Given the description of an element on the screen output the (x, y) to click on. 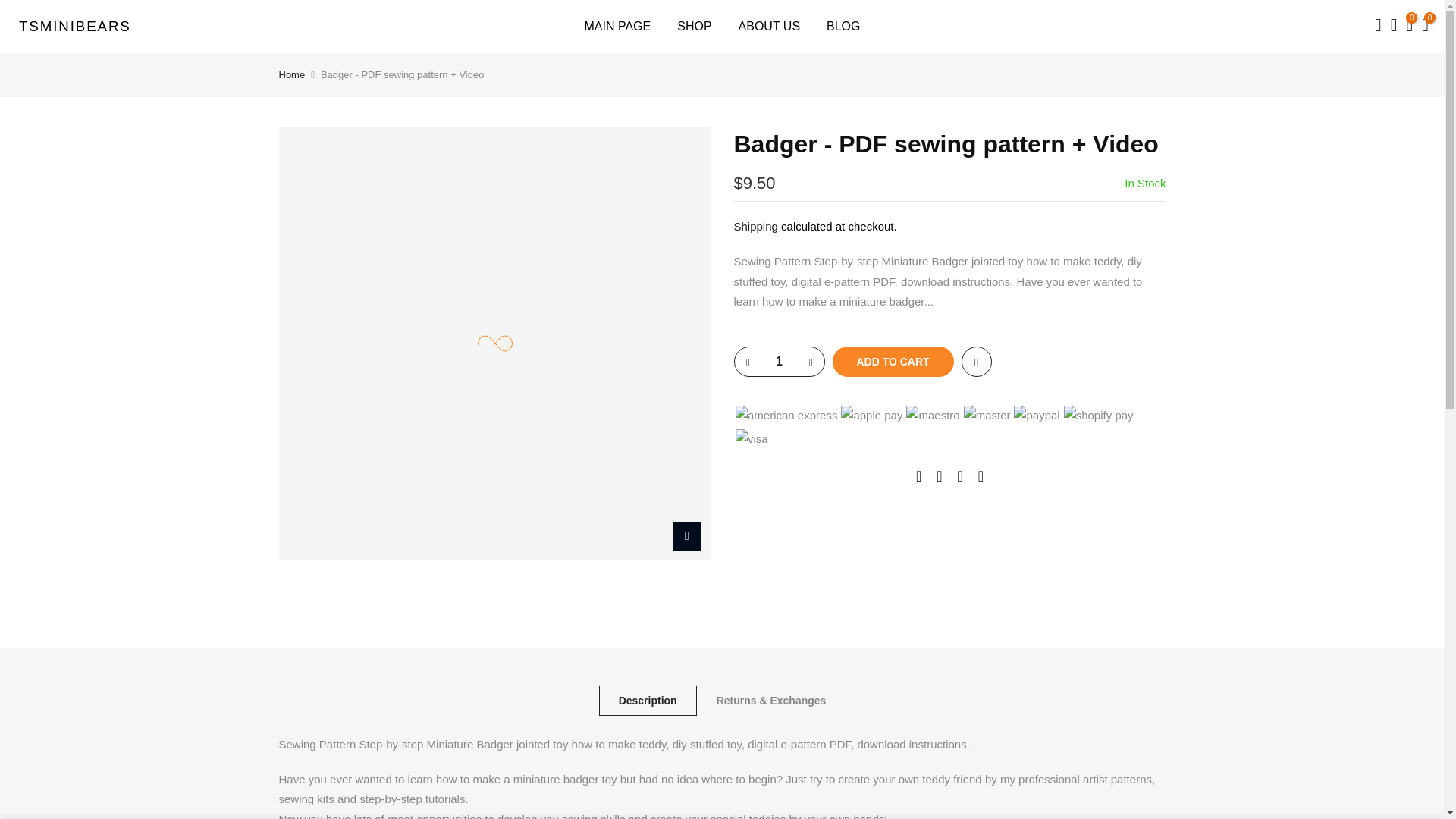
MAIN PAGE (616, 26)
Shipping (755, 226)
ADD TO CART (892, 361)
Home (292, 74)
ABOUT US (769, 26)
BLOG (843, 26)
SHOP (694, 26)
Description (647, 700)
TSMINIBEARS (74, 26)
1 (778, 361)
